Given the description of an element on the screen output the (x, y) to click on. 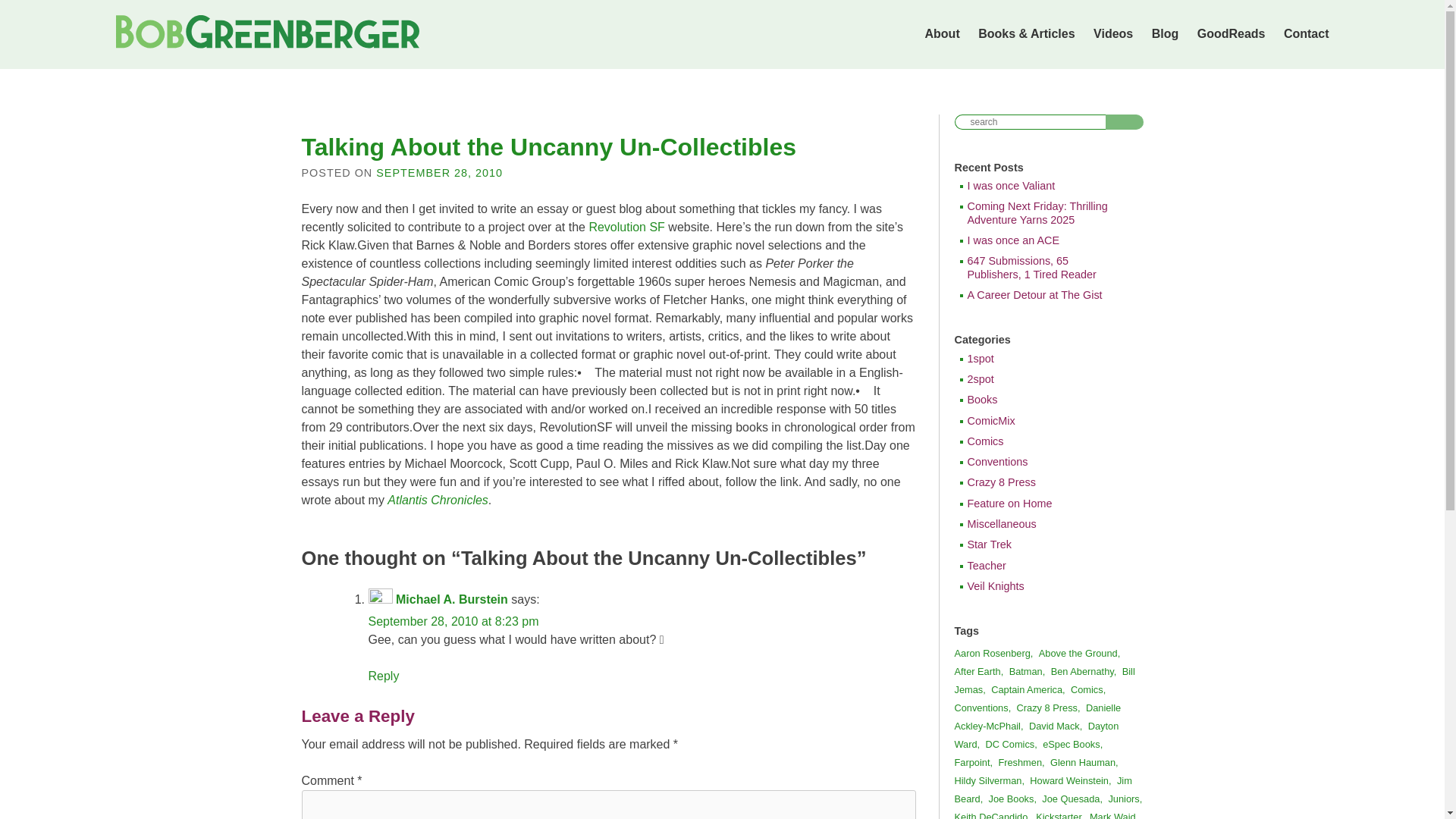
Books (1044, 399)
Reply (383, 675)
Conventions (1044, 461)
A Career Detour at The Gist (1044, 295)
September 28, 2010 at 8:23 pm (453, 621)
Michael A. Burstein (452, 599)
Coming Next Friday: Thrilling Adventure Yarns 2025 (1044, 212)
647 Submissions, 65 Publishers, 1 Tired Reader (1044, 267)
1spot (1044, 358)
Veil Knights (1044, 585)
